Given the description of an element on the screen output the (x, y) to click on. 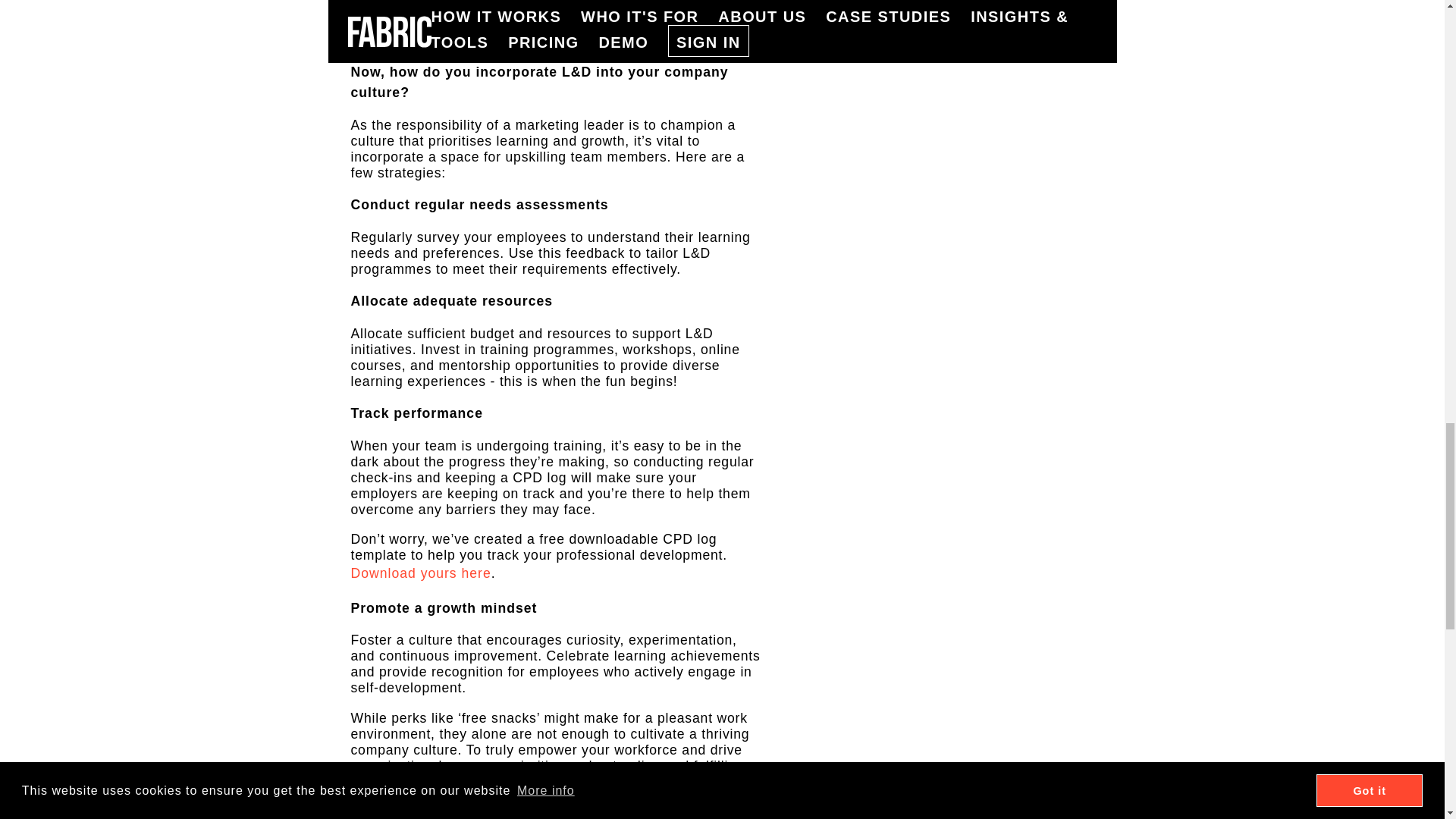
Download yours here (420, 572)
